Given the description of an element on the screen output the (x, y) to click on. 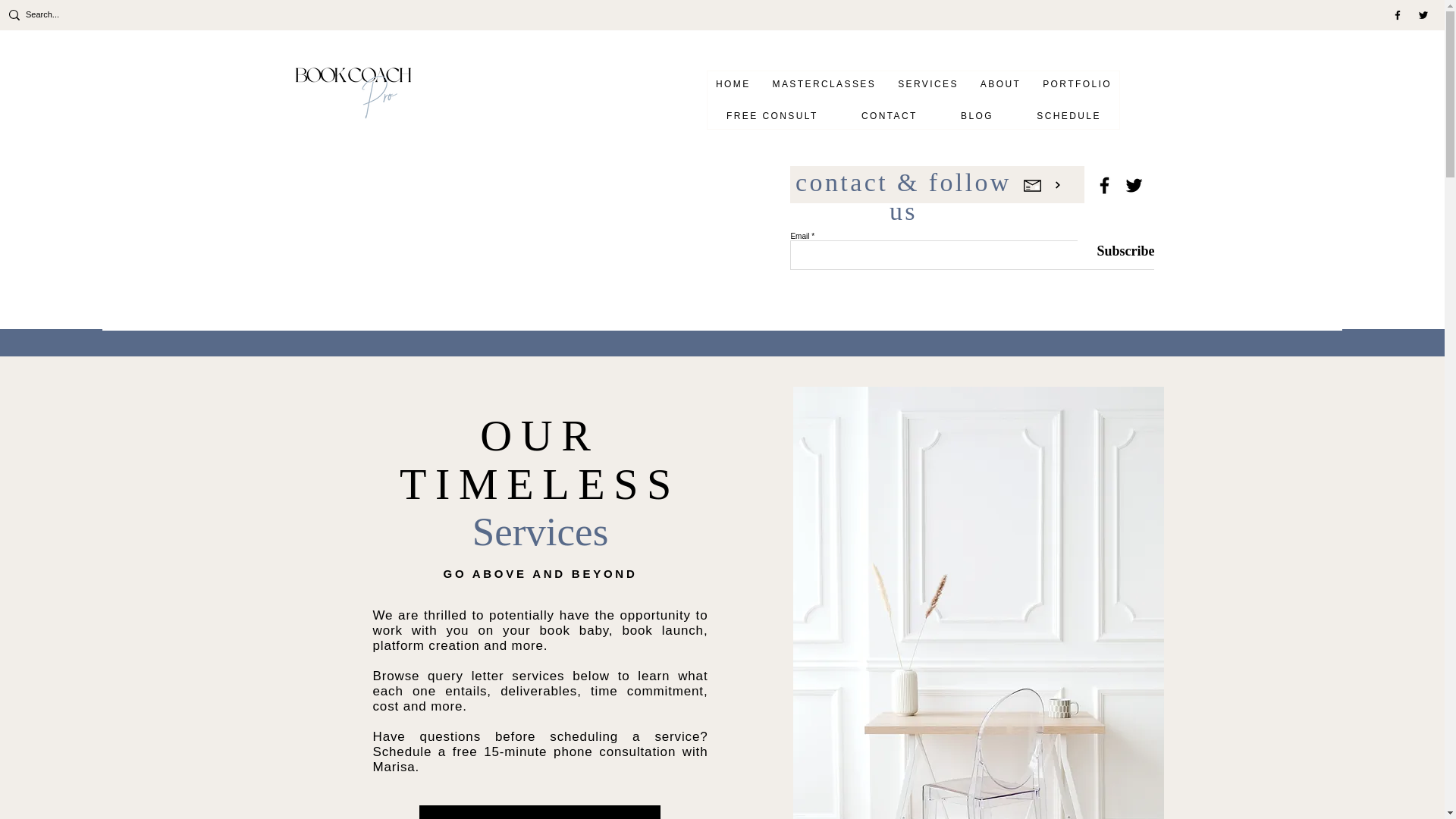
PORTFOLIO (1077, 84)
CONTACT (889, 115)
ABOUT (999, 84)
BLOG (976, 115)
MASTERCLASSES (823, 84)
HOME (732, 84)
FREE CONSULT (771, 115)
Subscribe (1115, 251)
SCHEDULE (1068, 115)
SCHEDULE A FREE CONSULTATION (539, 812)
